Given the description of an element on the screen output the (x, y) to click on. 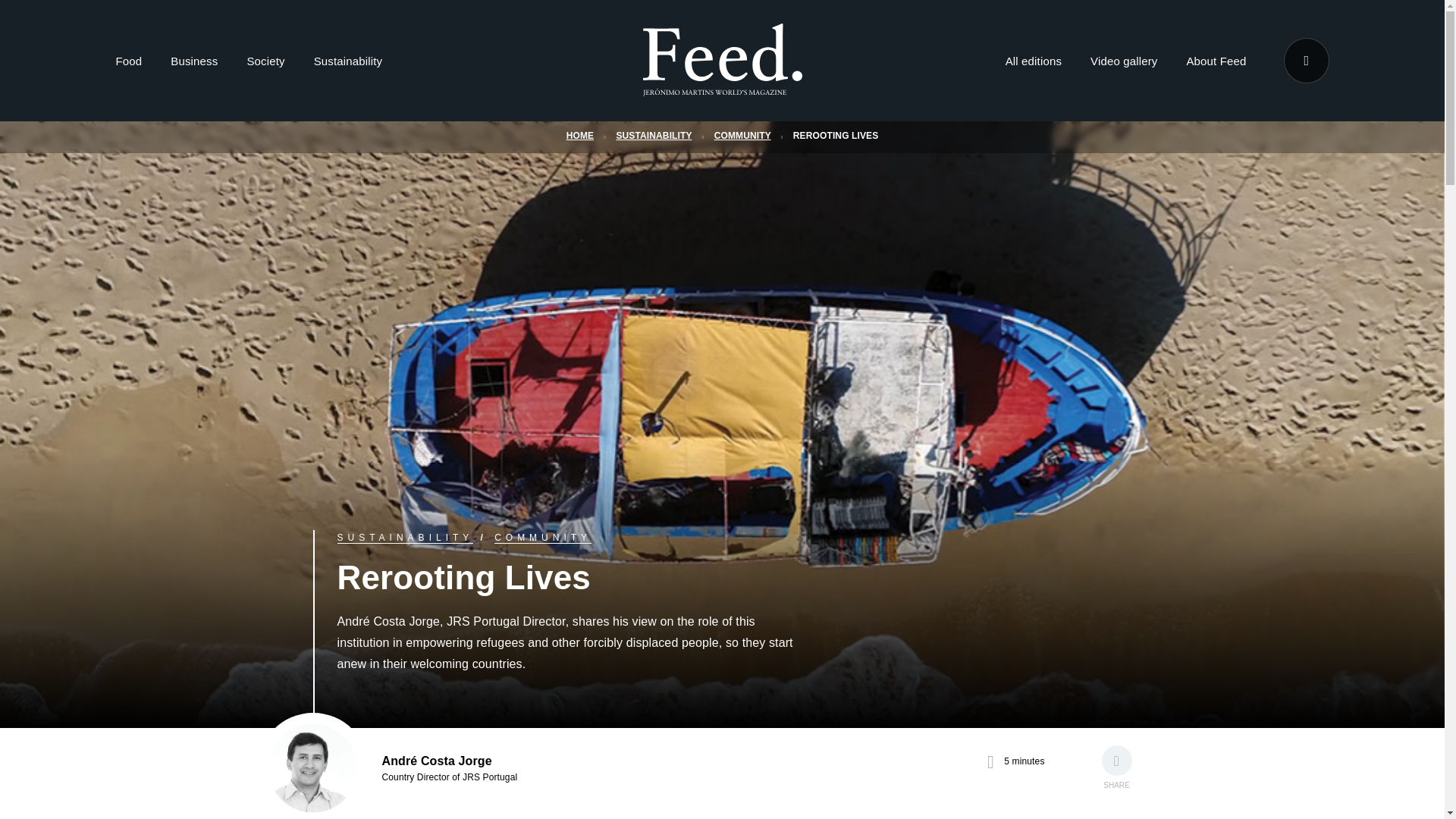
Society (264, 63)
Video gallery (1123, 63)
Go to homepage (722, 86)
Business (193, 63)
Search (1304, 60)
Homepage (722, 60)
All editions (1033, 63)
About Feed (1216, 63)
Food (128, 63)
Sustainability (347, 63)
